Given the description of an element on the screen output the (x, y) to click on. 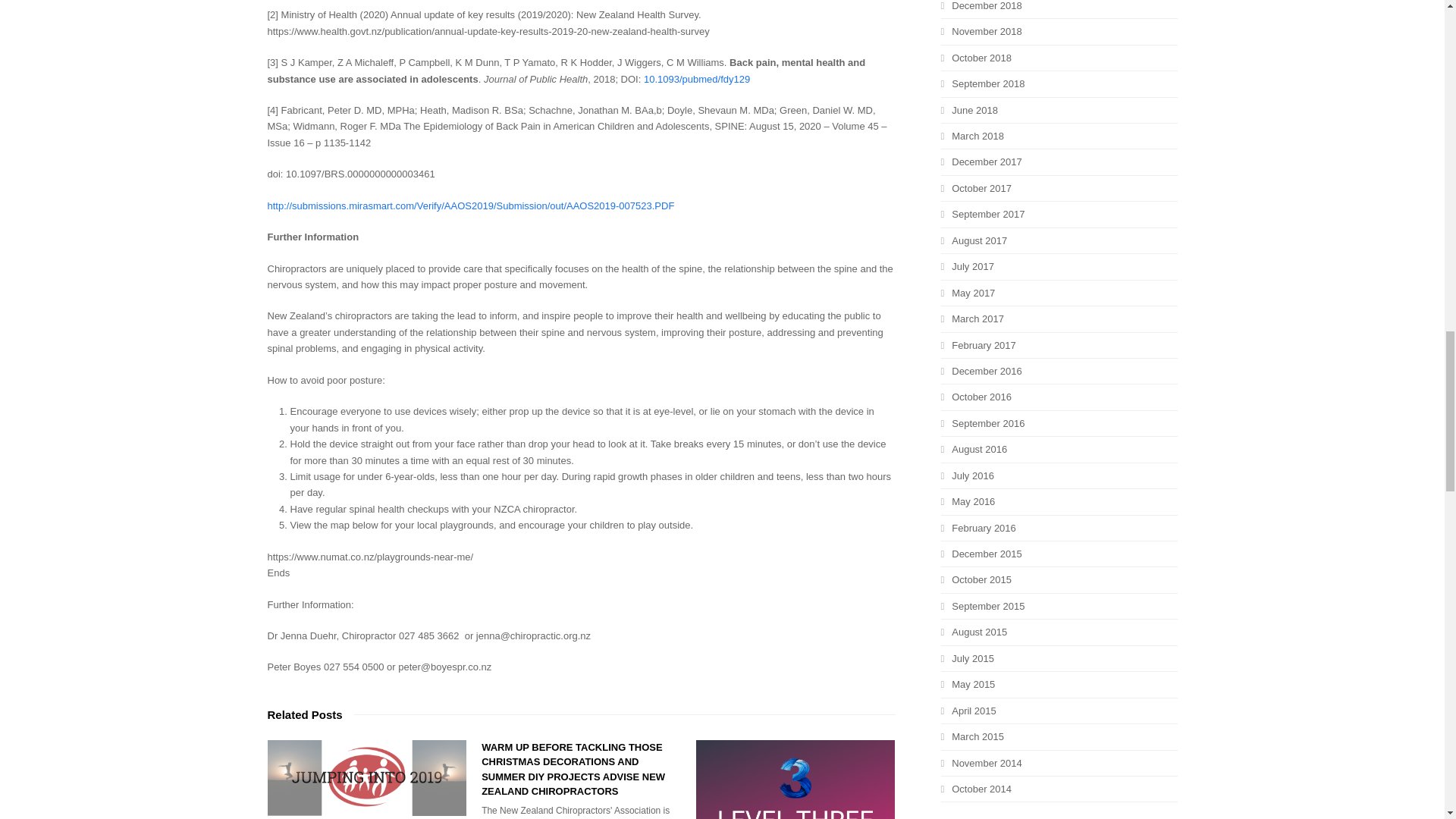
Level Three (795, 779)
